Given the description of an element on the screen output the (x, y) to click on. 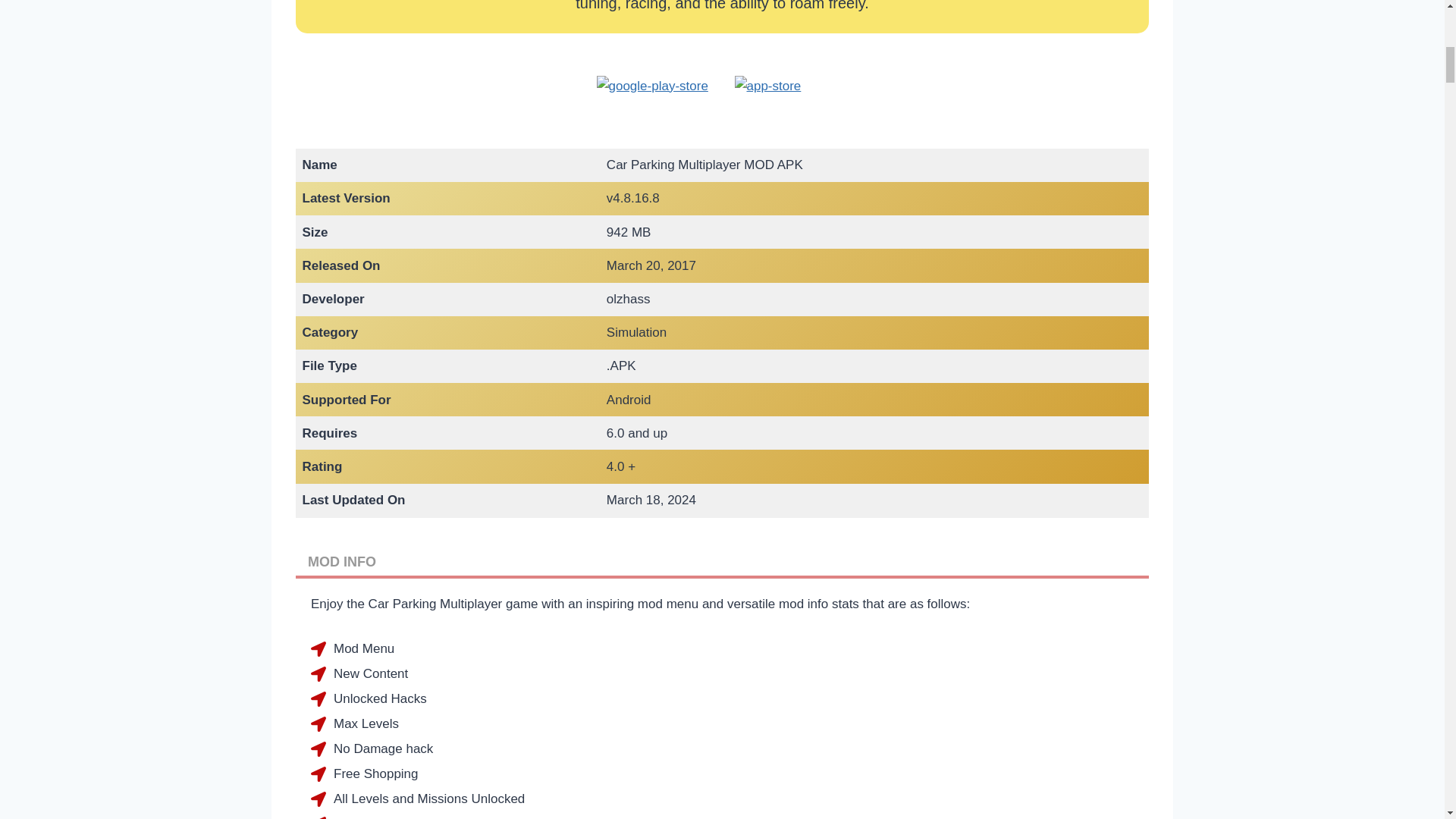
MOD INFO (721, 560)
